Given the description of an element on the screen output the (x, y) to click on. 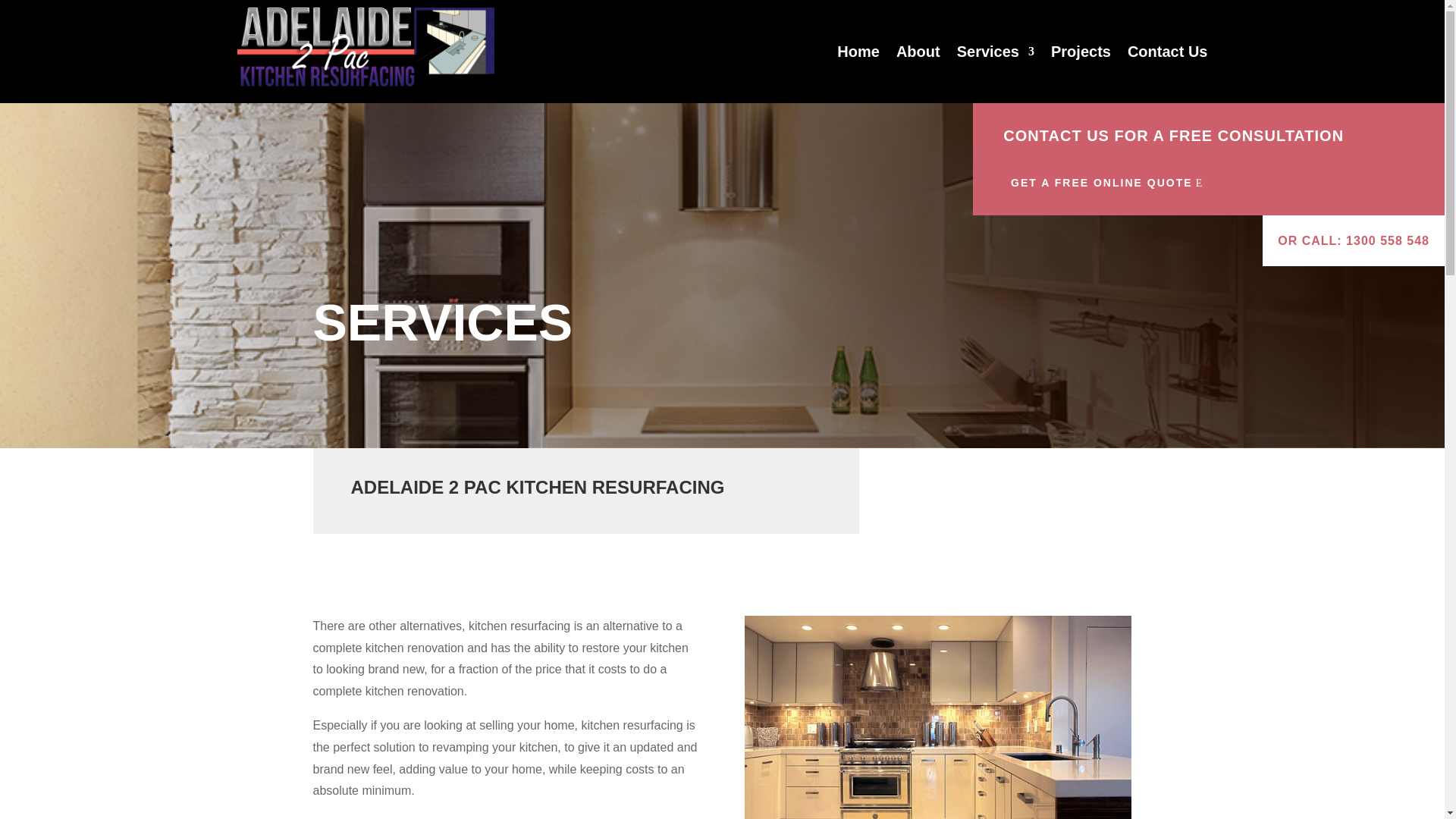
GET A FREE ONLINE QUOTE (1107, 183)
Contact Us (1167, 51)
kitchen-for-website (937, 717)
